Given the description of an element on the screen output the (x, y) to click on. 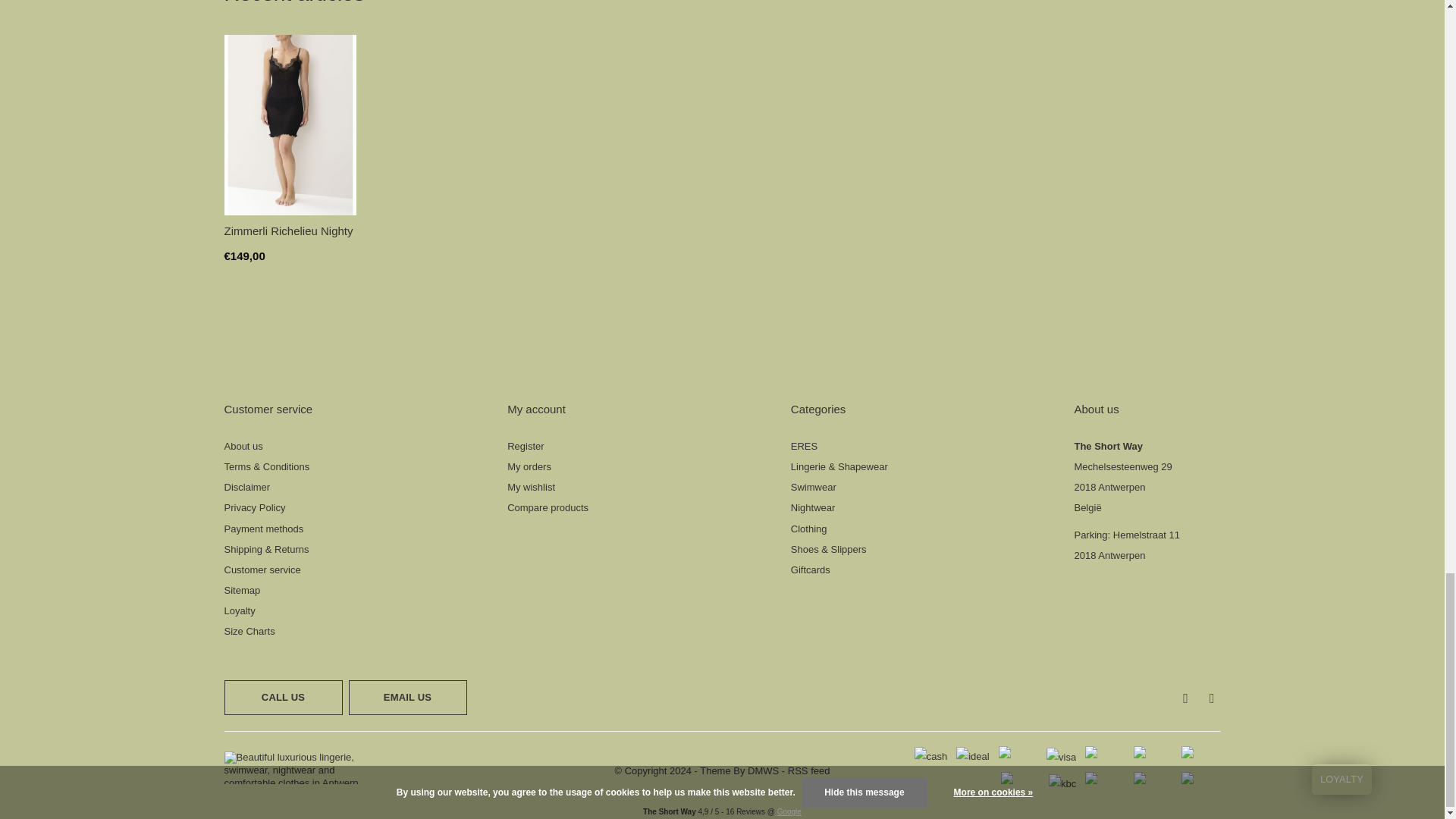
My wishlist (530, 487)
My orders (528, 466)
Register (524, 446)
